Given the description of an element on the screen output the (x, y) to click on. 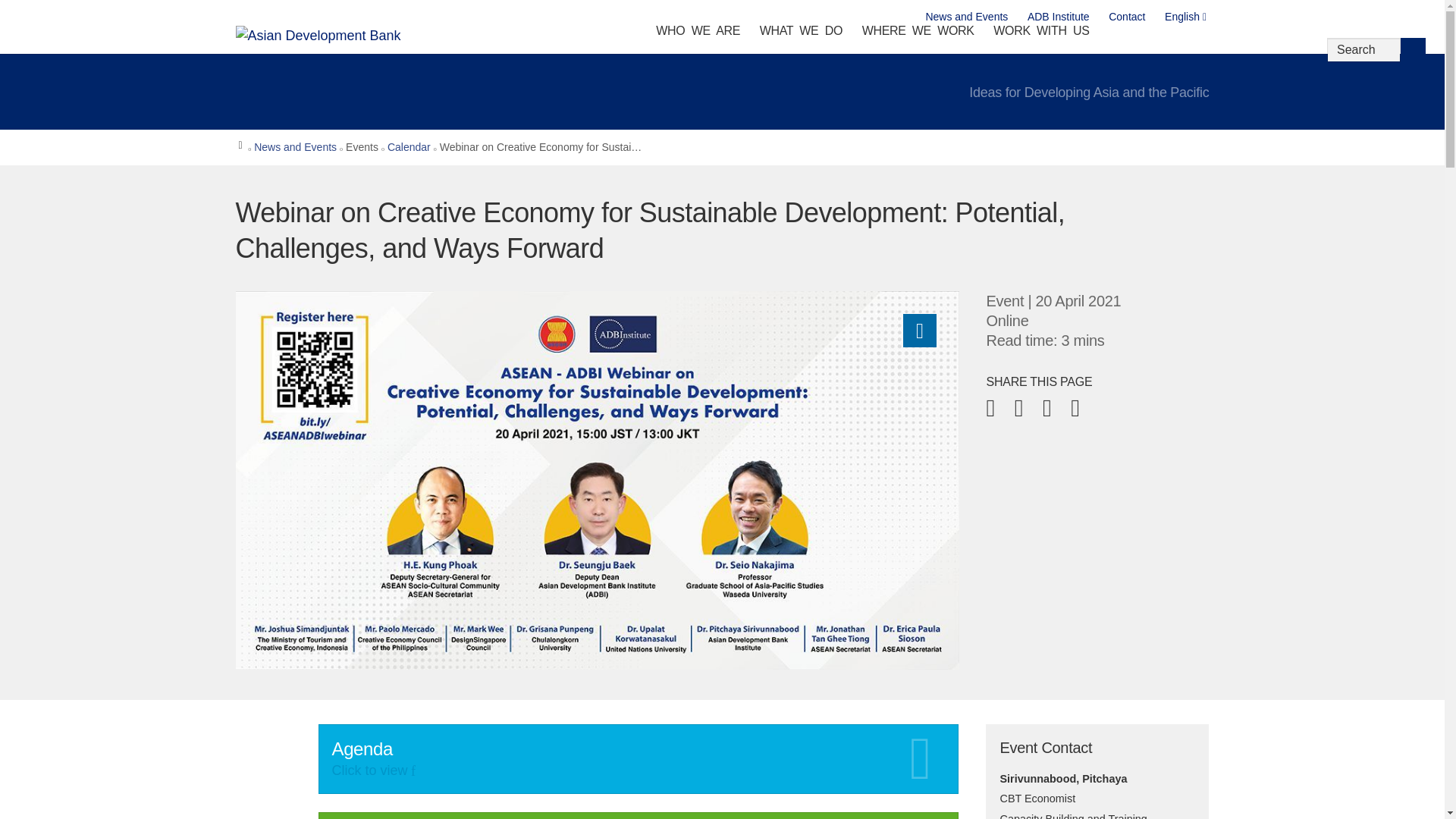
Home (241, 146)
ADB Institute (1058, 17)
WHO  WE  ARE (697, 33)
ADB Home (338, 35)
WHERE  WE  WORK (917, 33)
English   (1186, 17)
Search (1412, 49)
Contact (1126, 17)
WORK  WITH  US (1041, 33)
Share (919, 330)
News and Events (966, 17)
WHAT  WE  DO (800, 33)
